Given the description of an element on the screen output the (x, y) to click on. 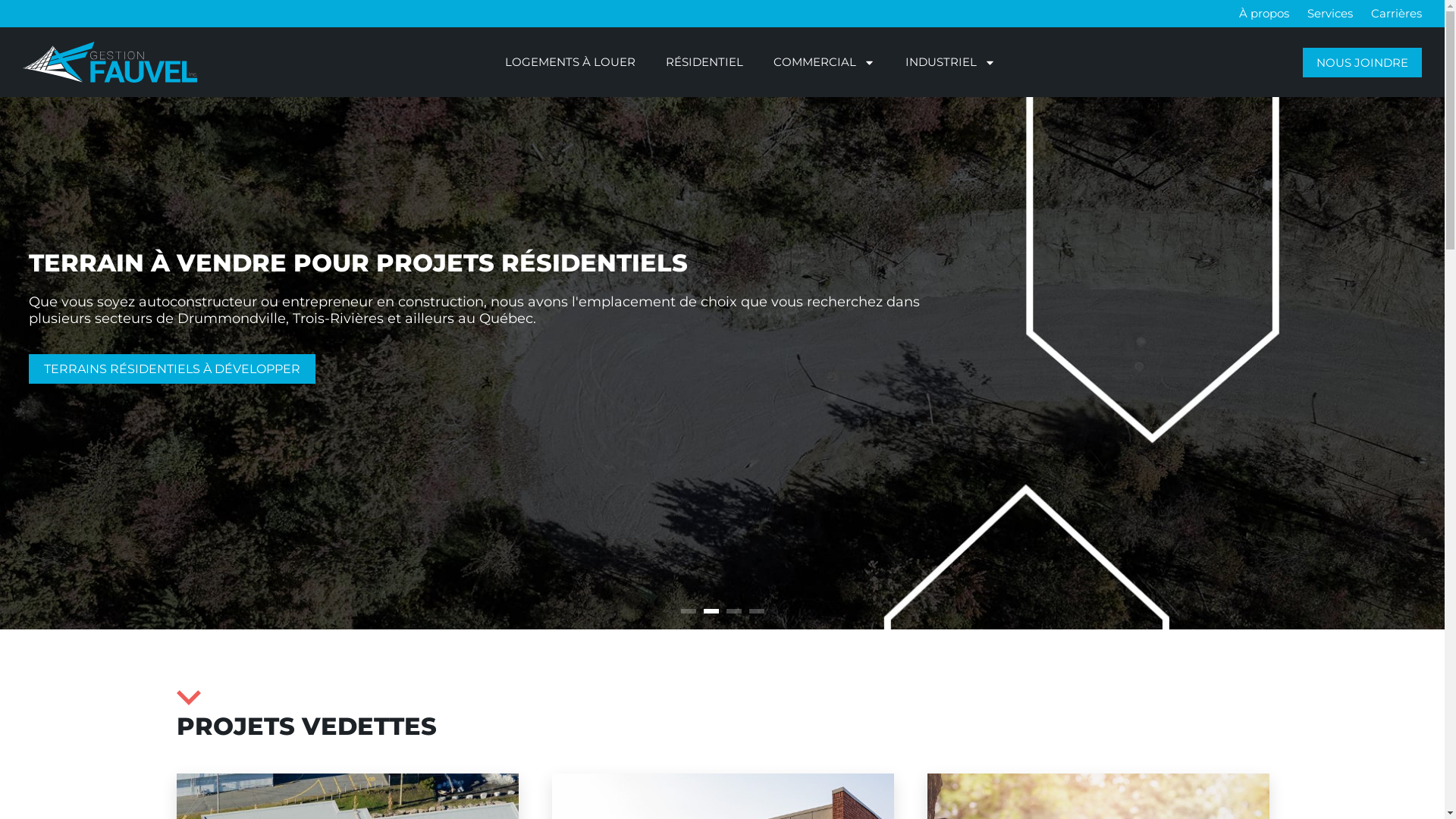
3 Element type: text (733, 610)
NOUS JOINDRE Element type: text (1361, 61)
2 Element type: text (710, 610)
1 Element type: text (688, 610)
COMMERCIAL Element type: text (824, 62)
Services Element type: text (1329, 13)
4 Element type: text (756, 610)
INDUSTRIEL Element type: text (950, 62)
